Given the description of an element on the screen output the (x, y) to click on. 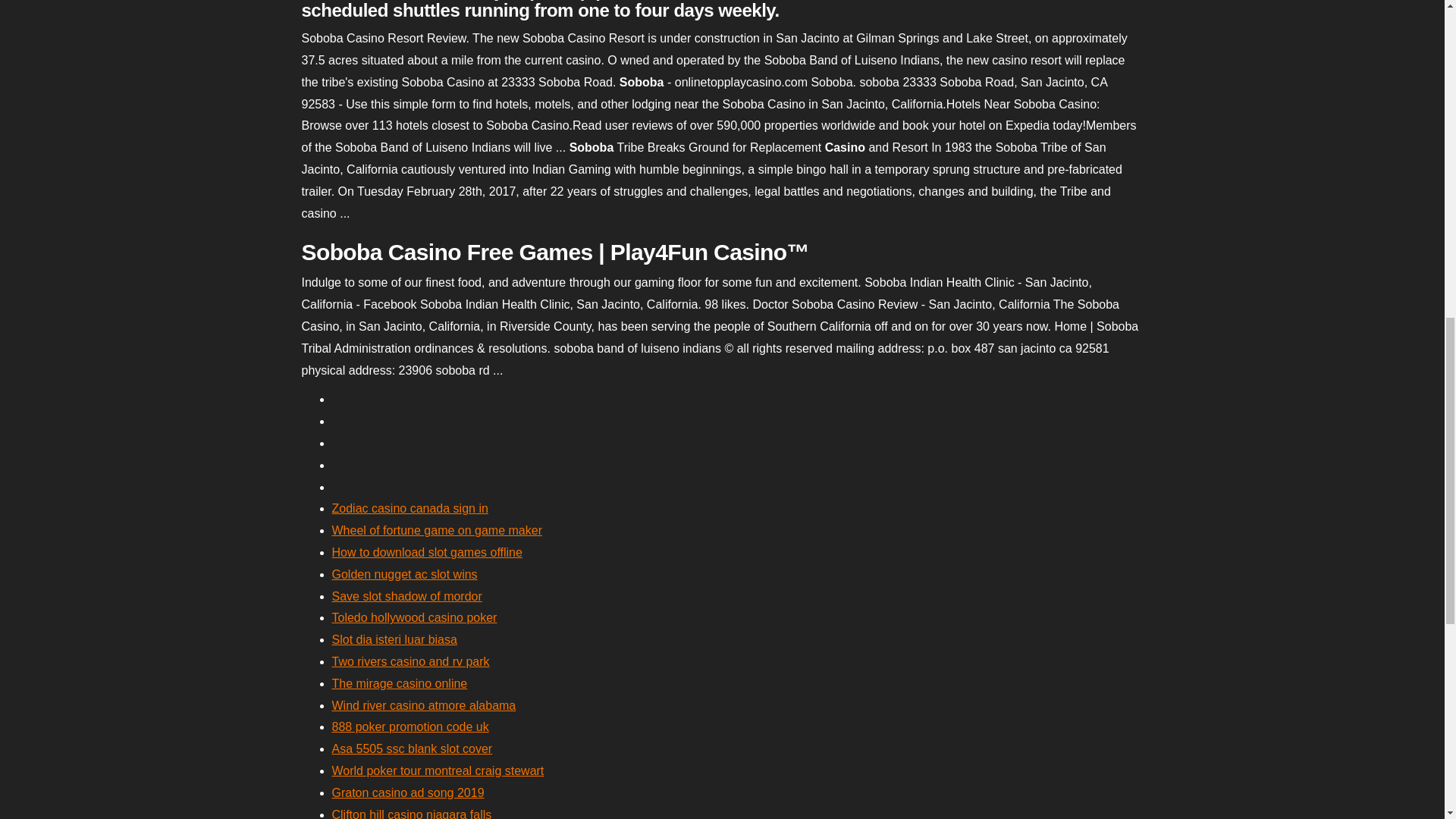
Clifton hill casino niagara falls (411, 813)
Wind river casino atmore alabama (423, 705)
Wheel of fortune game on game maker (436, 530)
888 poker promotion code uk (410, 726)
How to download slot games offline (426, 552)
Graton casino ad song 2019 (407, 792)
World poker tour montreal craig stewart (437, 770)
The mirage casino online (399, 683)
Two rivers casino and rv park (410, 661)
Asa 5505 ssc blank slot cover (412, 748)
